Given the description of an element on the screen output the (x, y) to click on. 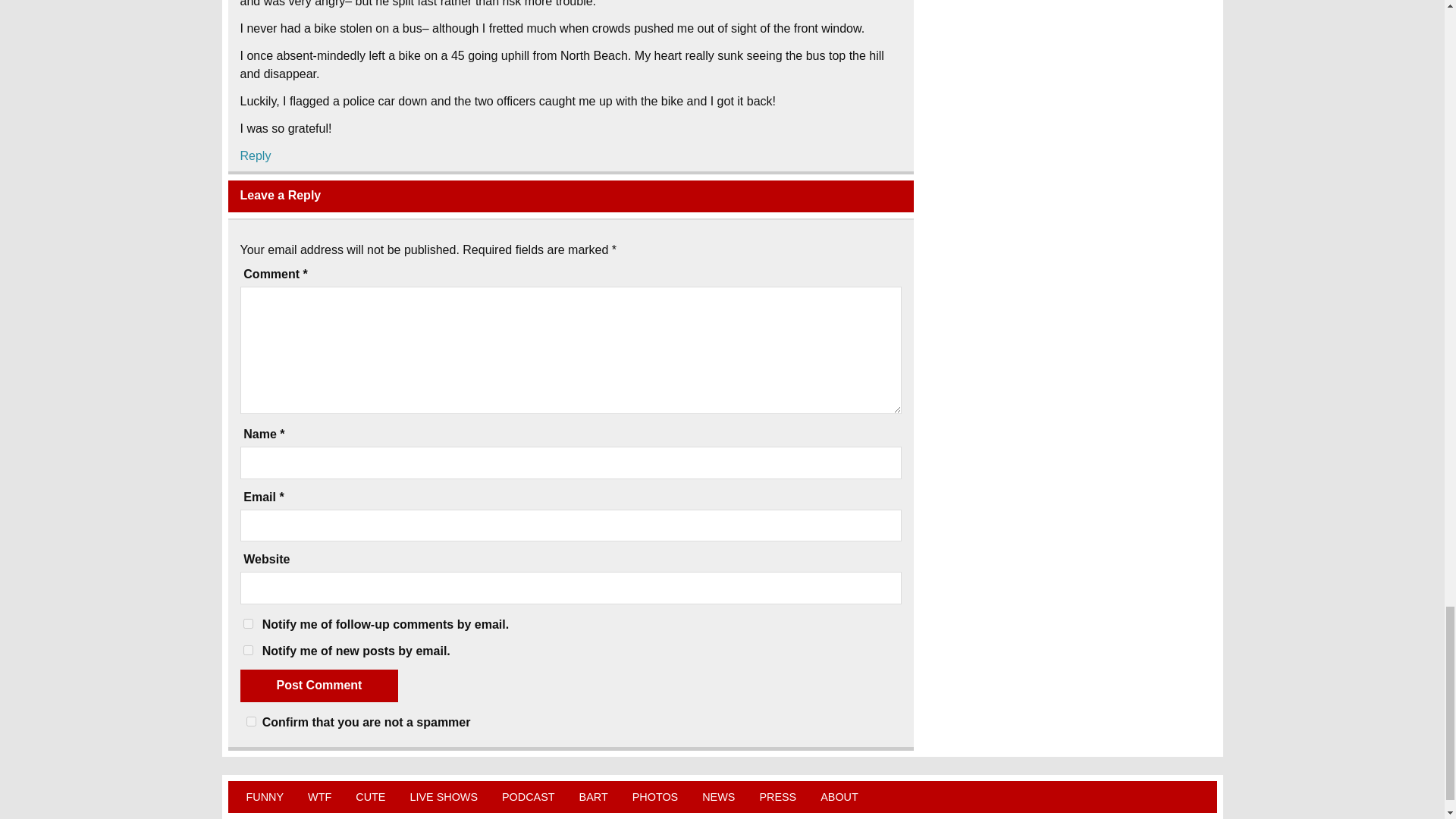
on (251, 721)
subscribe (247, 623)
subscribe (247, 650)
Post Comment (318, 685)
